Given the description of an element on the screen output the (x, y) to click on. 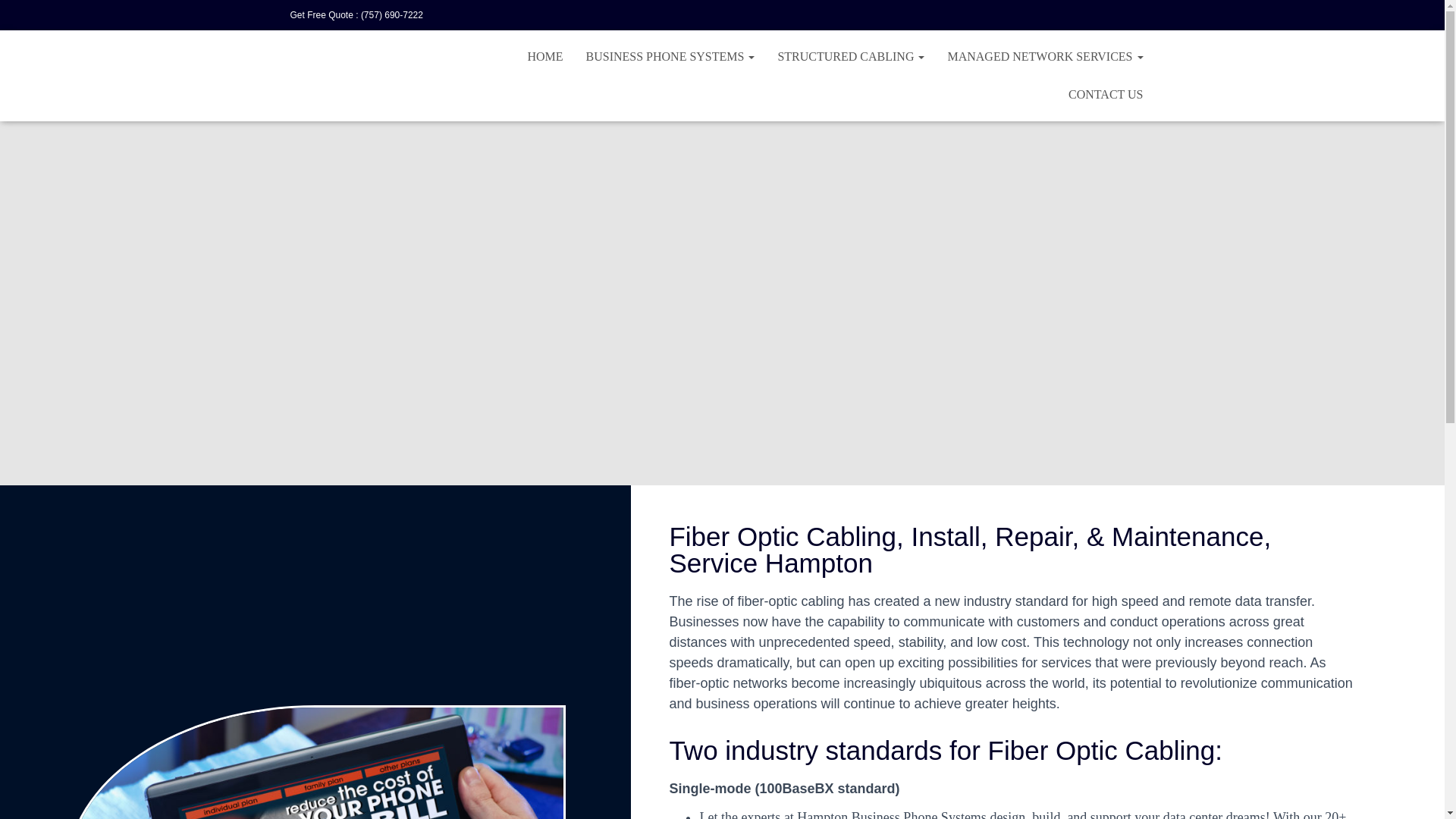
BUSINESS PHONE SYSTEMS (671, 56)
BUSINESS PHONE SYSTEMS (671, 56)
MANAGED NETWORK SERVICES (1045, 56)
STRUCTURED CABLING (850, 56)
Home (544, 56)
HOME (544, 56)
CONTACT US (1105, 94)
